Given the description of an element on the screen output the (x, y) to click on. 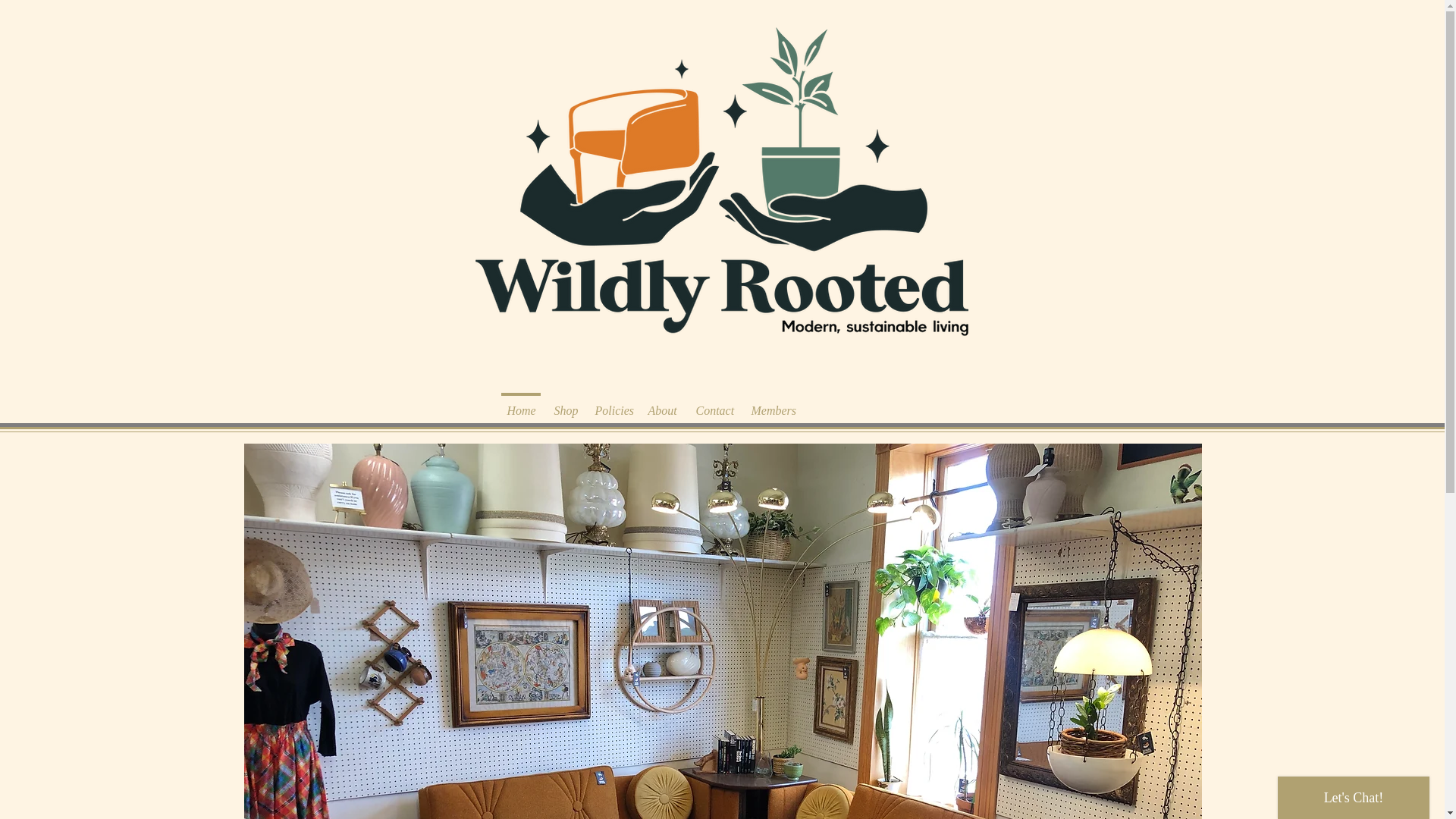
About (662, 404)
Home (520, 404)
Members (772, 404)
Shop (564, 404)
Contact (713, 404)
Policies (612, 404)
